Given the description of an element on the screen output the (x, y) to click on. 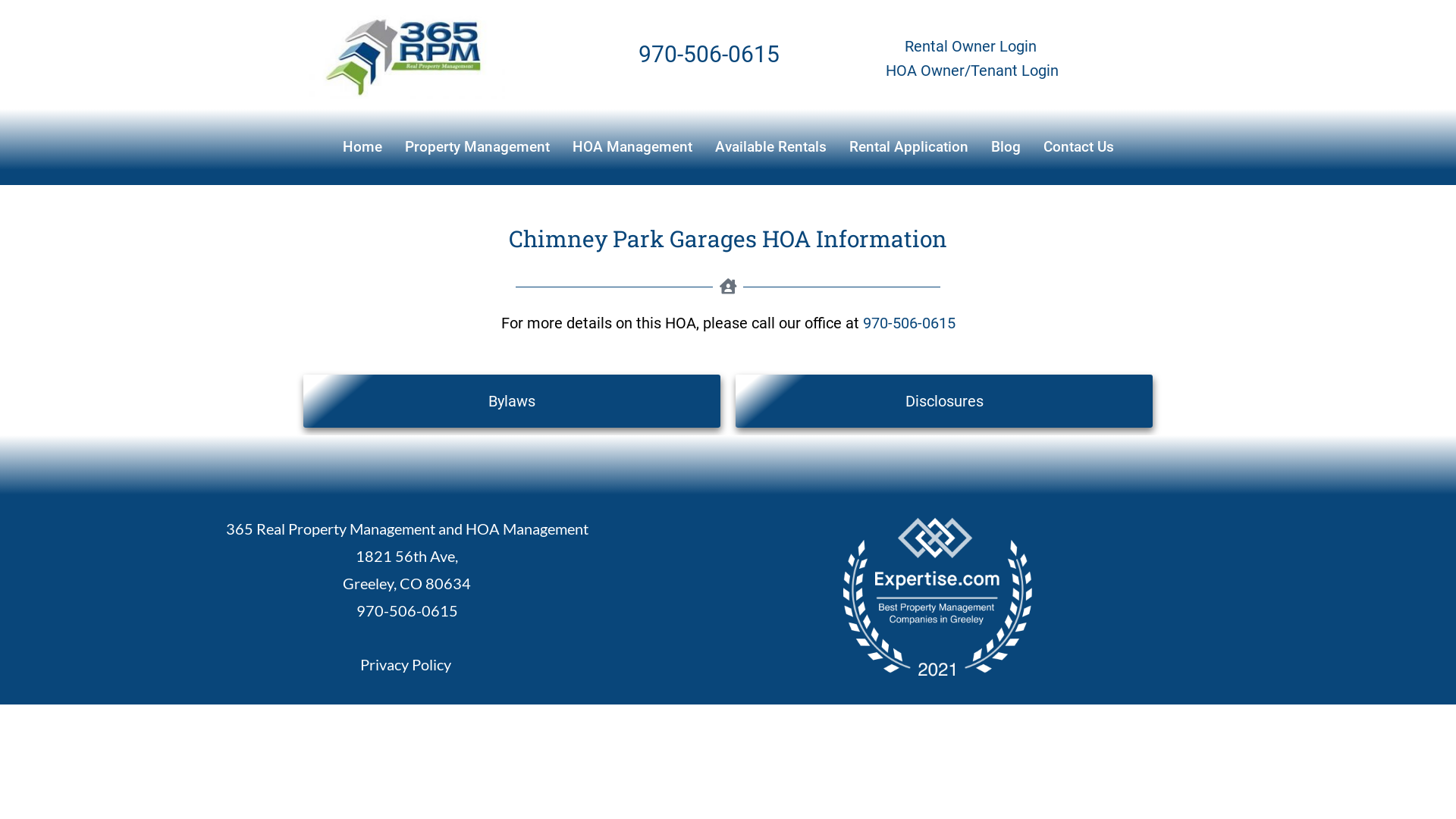
Rental Application Element type: text (908, 147)
970-506-0615 Element type: text (908, 322)
Blog Element type: text (1005, 147)
Property Management Element type: text (476, 147)
Home Element type: text (361, 147)
970-506-0615 Element type: text (708, 53)
Bylaws Element type: text (511, 400)
Privacy Policy  Element type: text (406, 664)
Available Rentals Element type: text (770, 147)
Contact Us Element type: text (1077, 147)
HOA Management Element type: text (632, 147)
HOA Owner/Tenant Login Element type: text (971, 70)
Disclosures Element type: text (943, 400)
Rental Owner Login Element type: text (970, 46)
970-506-0615 Element type: text (407, 610)
